Given the description of an element on the screen output the (x, y) to click on. 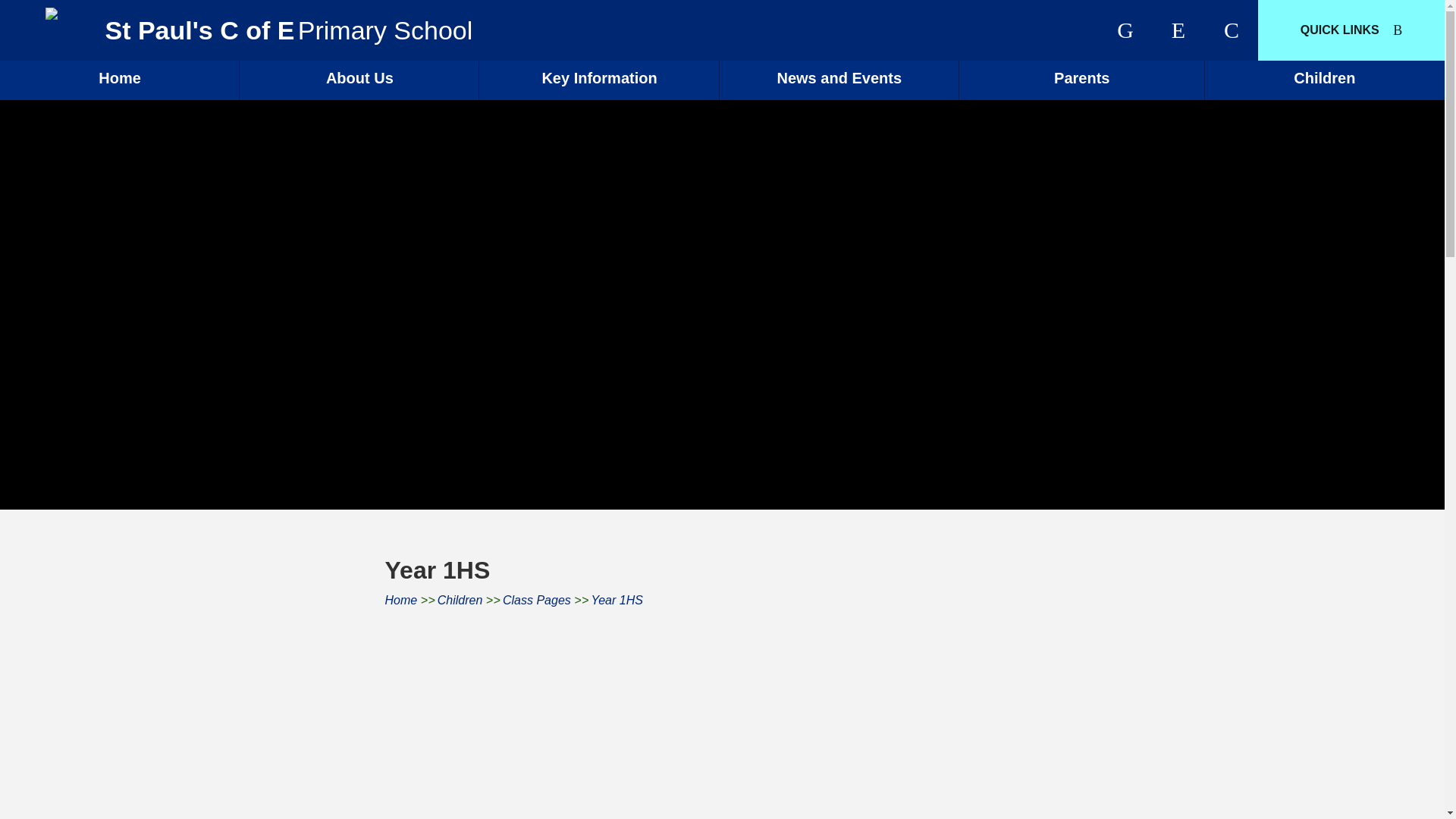
Key Information (599, 79)
Home Page (65, 13)
Home (120, 79)
About Us (359, 79)
